Given the description of an element on the screen output the (x, y) to click on. 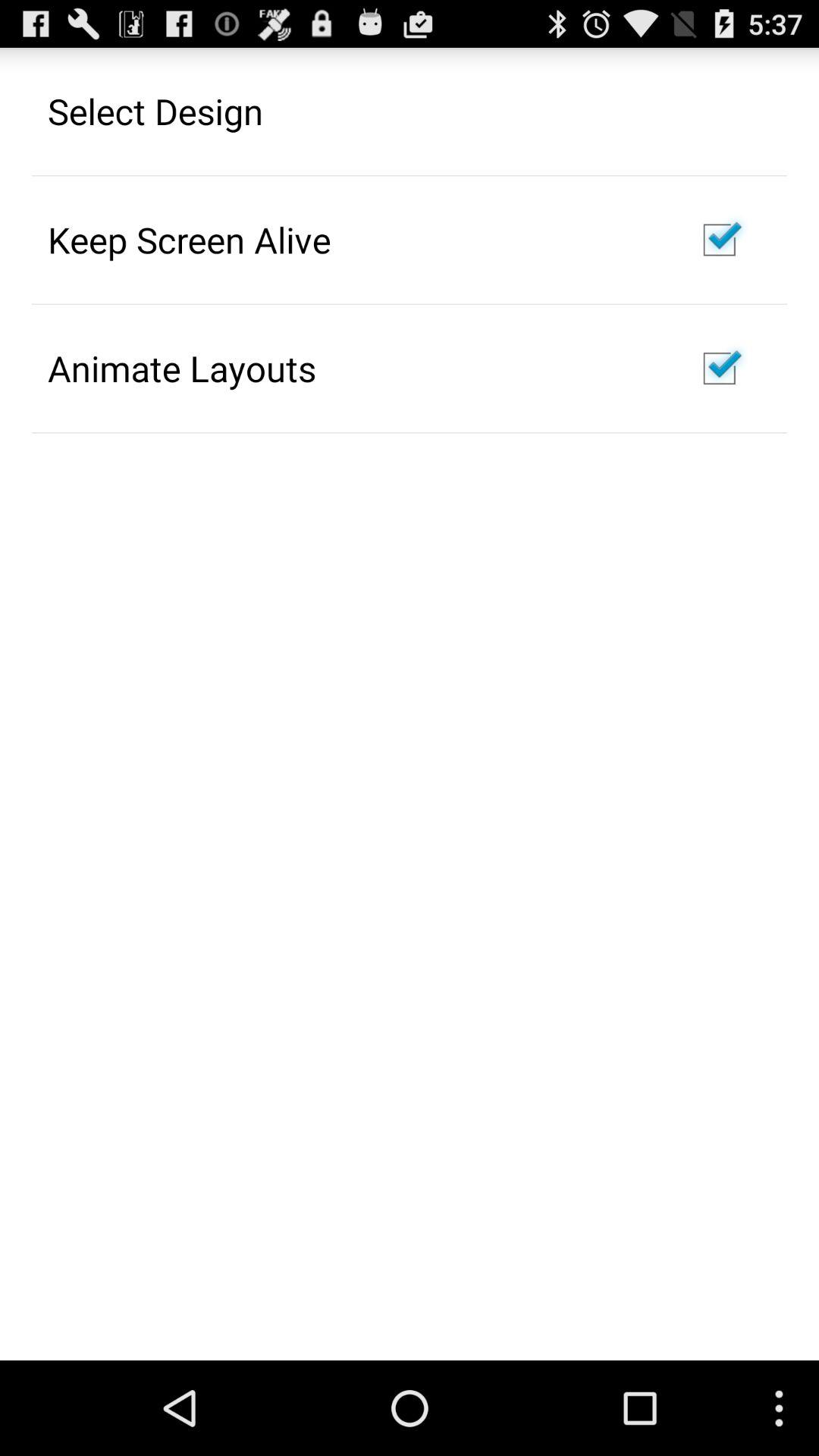
jump to the select design icon (155, 111)
